Given the description of an element on the screen output the (x, y) to click on. 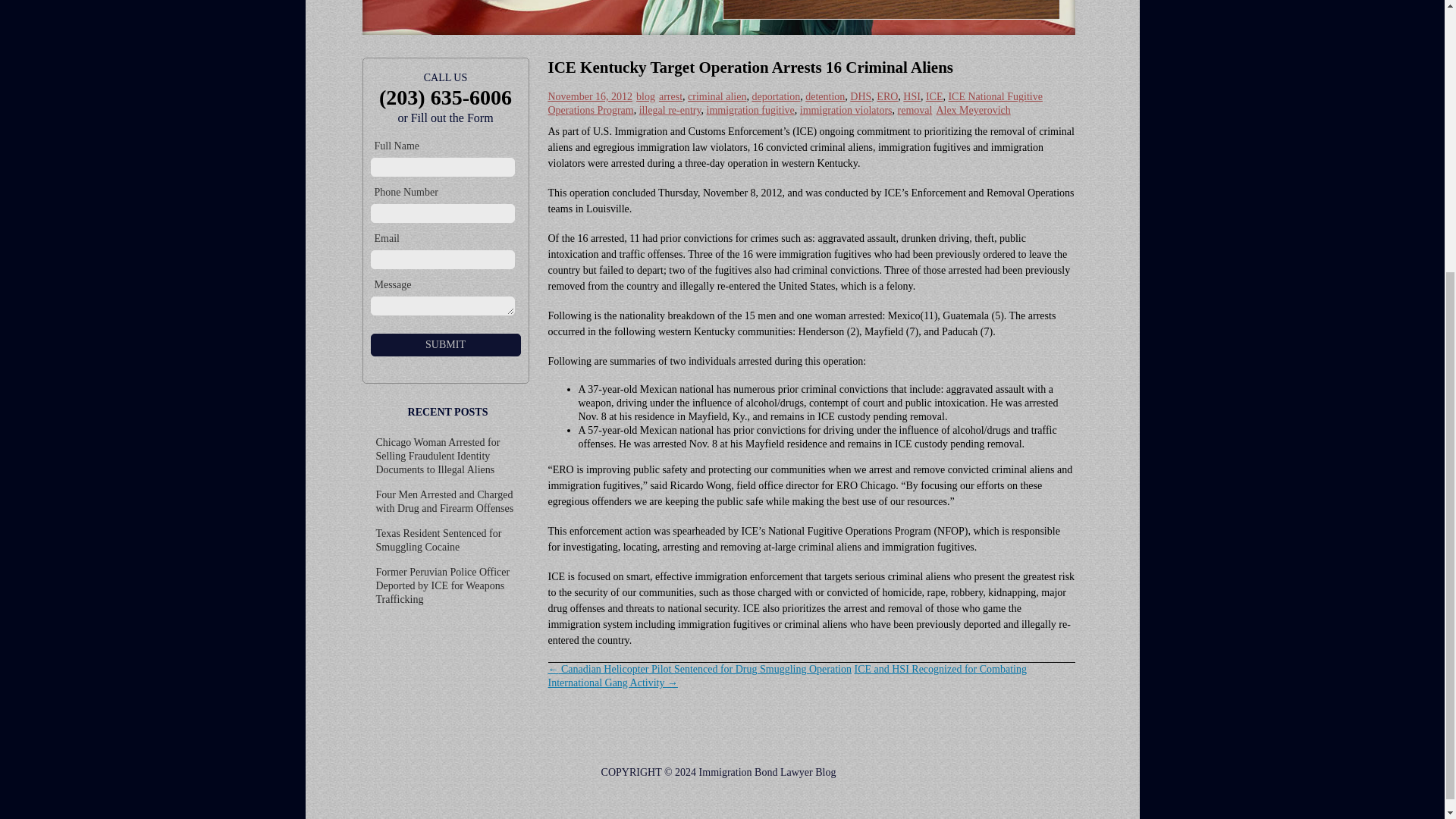
Four Men Arrested and Charged with Drug and Firearm Offenses (444, 501)
SUBMIT (444, 344)
ICE National Fugitive Operations Program (794, 103)
immigration fugitive (750, 110)
criminal alien (716, 96)
arrest (670, 96)
removal (915, 110)
ERO (887, 96)
SUBMIT (444, 344)
illegal re-entry (670, 110)
detention (824, 96)
HSI (911, 96)
Texas Resident Sentenced for Smuggling Cocaine (438, 539)
